Given the description of an element on the screen output the (x, y) to click on. 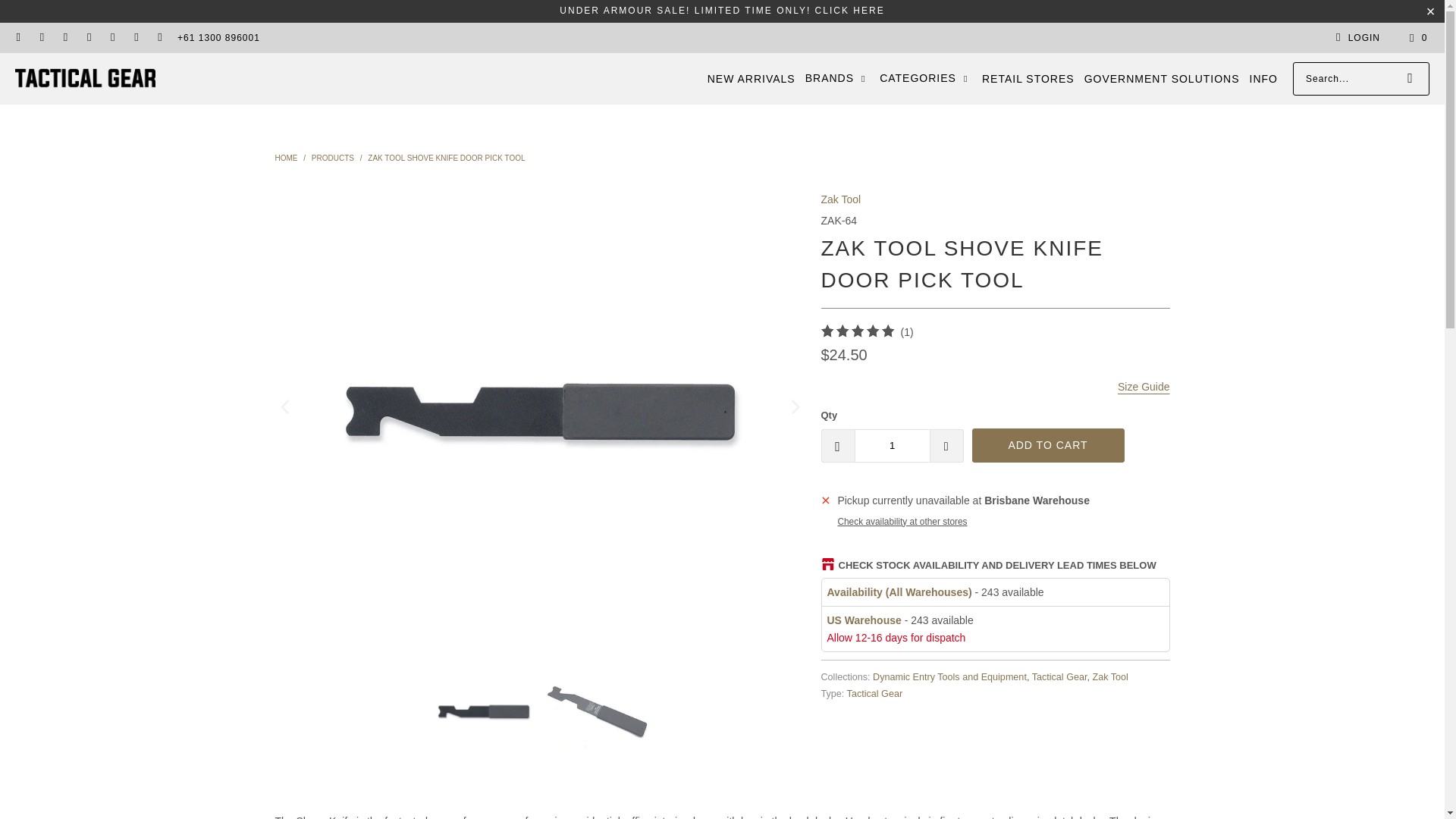
Products (333, 157)
Tactical Gear on YouTube (158, 37)
Tactical Gear (84, 79)
Tactical Gear (287, 157)
Tactical Gear on Twitter (135, 37)
Tactical Gear on Pinterest (112, 37)
1 (891, 445)
Tactical Gear on Facebook (41, 37)
Tactical Gear on Instagram (64, 37)
Email Tactical Gear (17, 37)
Tactical Gear on LinkedIn (87, 37)
My Account  (1355, 37)
Zak Tool (840, 199)
